Given the description of an element on the screen output the (x, y) to click on. 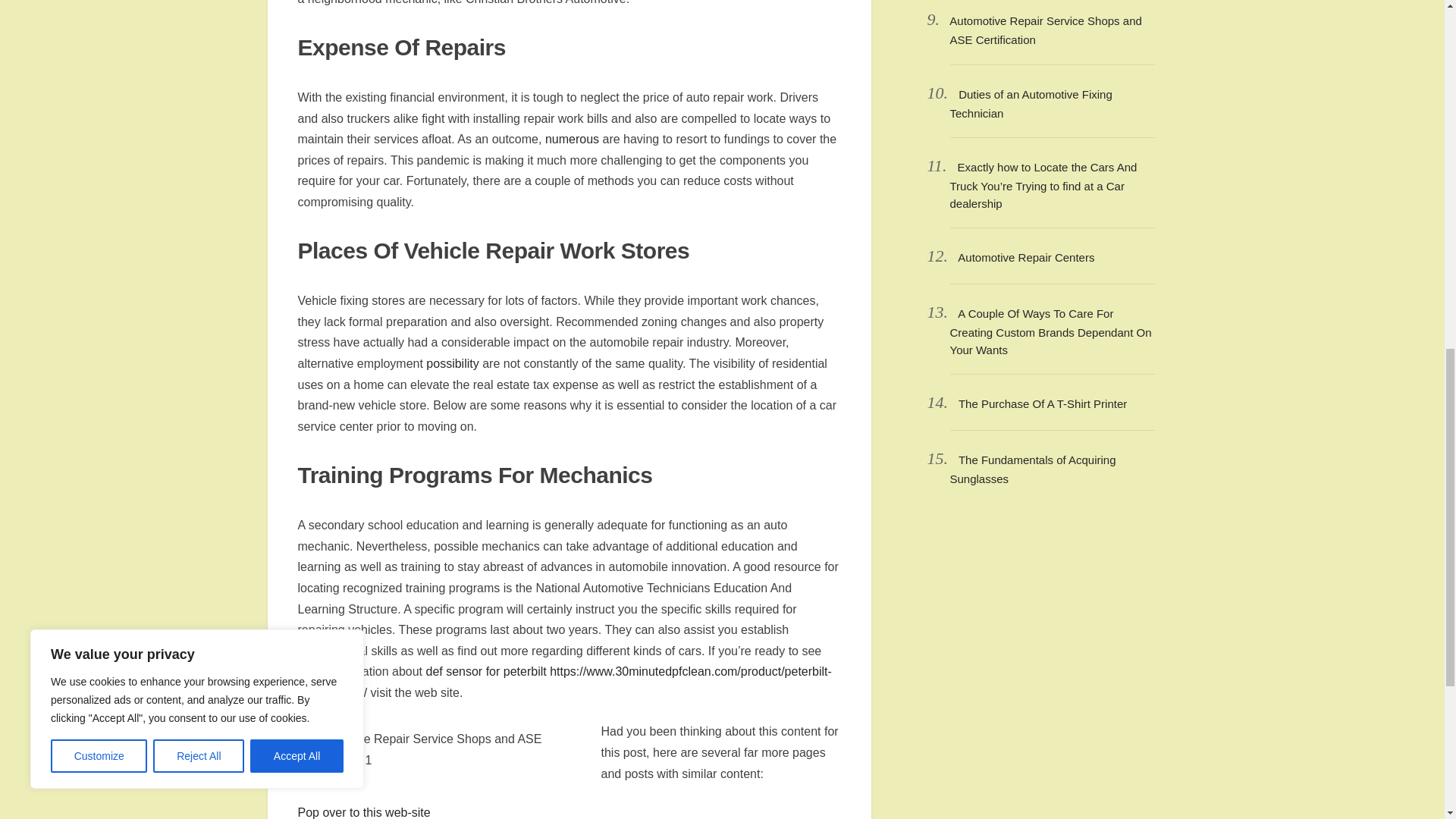
numerous (571, 138)
possibility (452, 363)
Pop over to this web-site (363, 812)
